Given the description of an element on the screen output the (x, y) to click on. 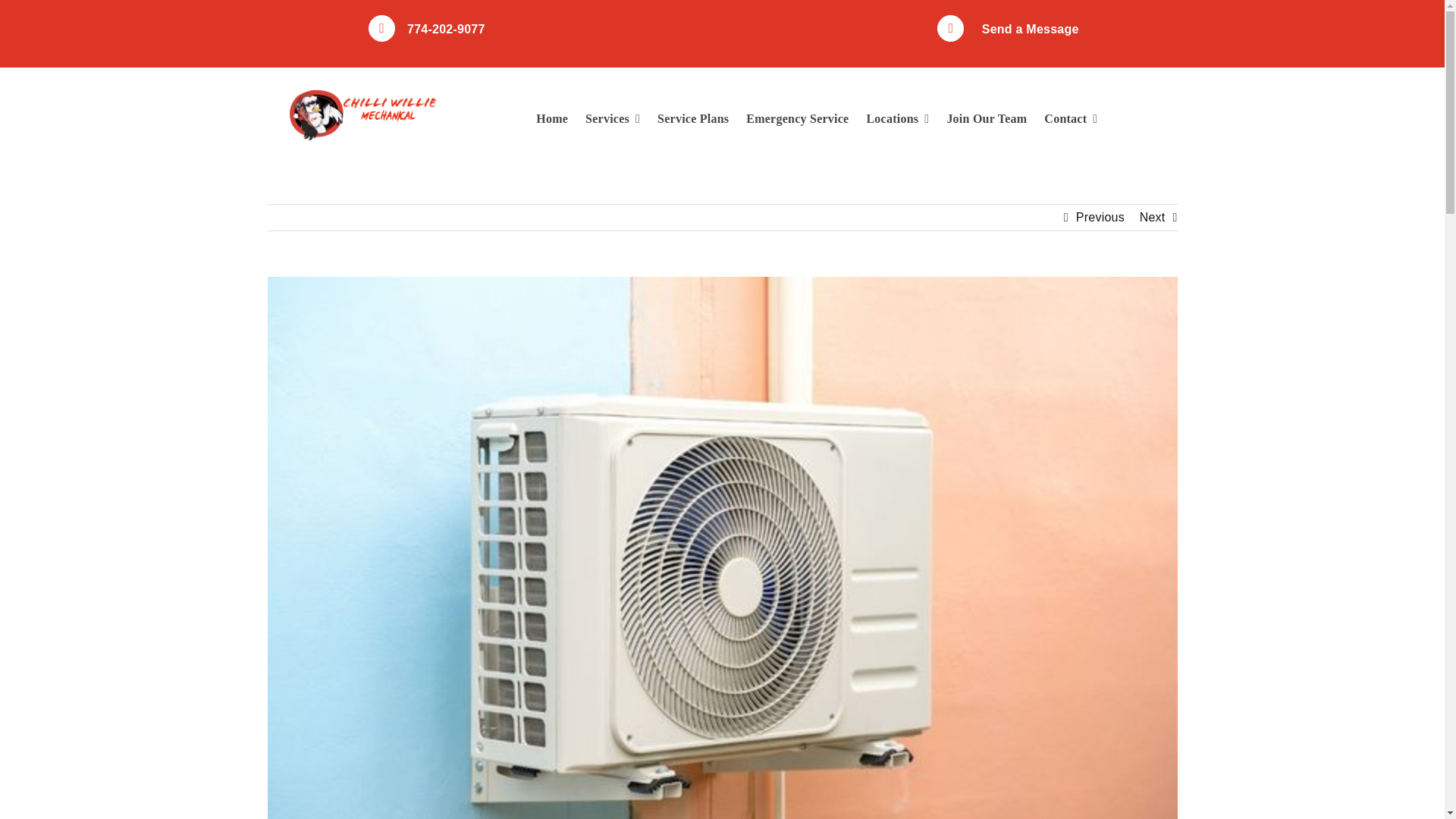
Contact (1070, 119)
Previous (1099, 217)
1-5da57862-68d8b1fa (363, 115)
Next (1153, 217)
Service Plans (693, 119)
Join Our Team (986, 119)
Emergency Service (796, 119)
Services (612, 119)
Locations (897, 119)
